Given the description of an element on the screen output the (x, y) to click on. 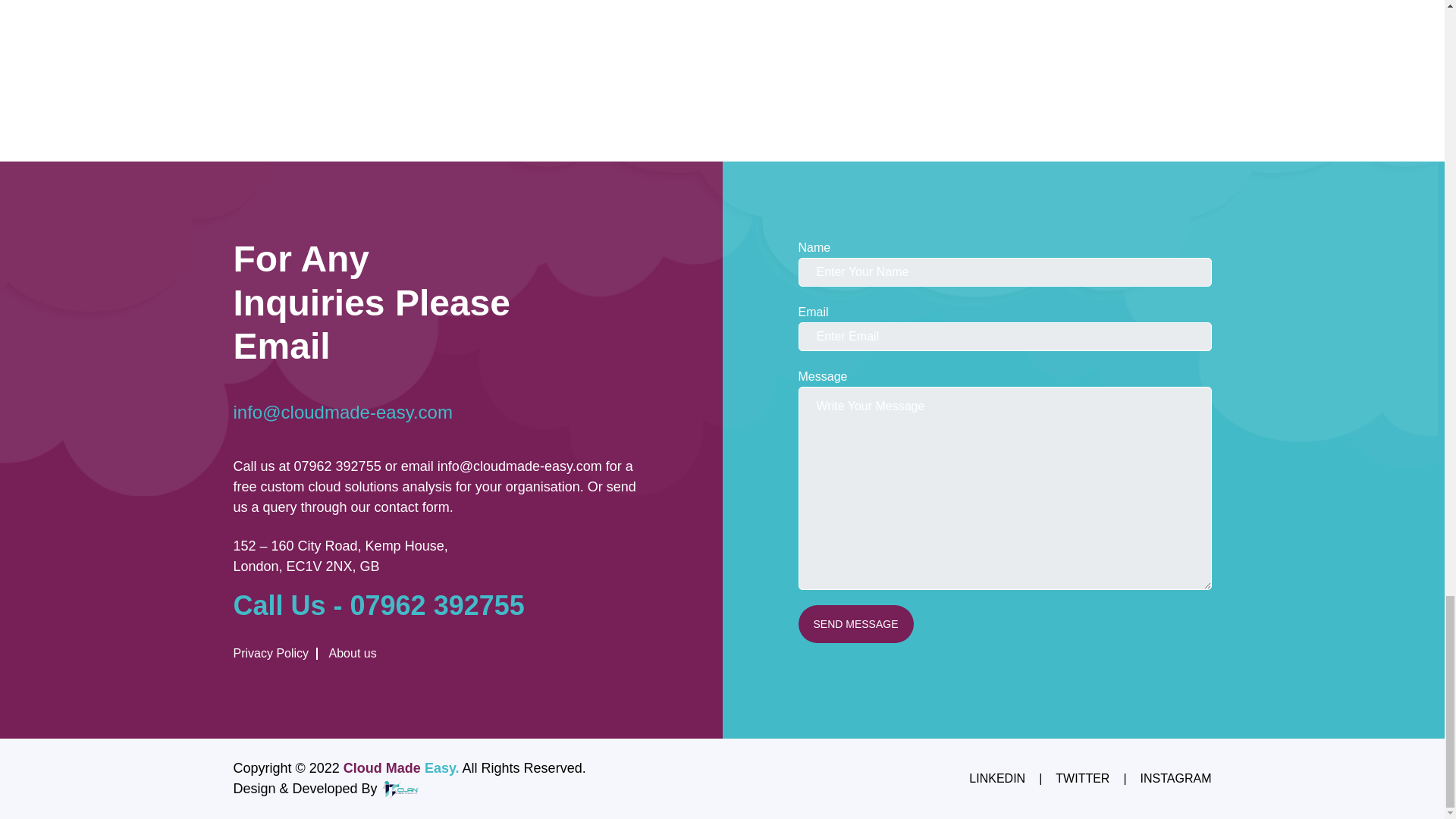
About us (349, 653)
Send Message (854, 623)
Send Message (854, 623)
LINKEDIN (997, 778)
Privacy Policy (275, 653)
TWITTER (1082, 778)
